Given the description of an element on the screen output the (x, y) to click on. 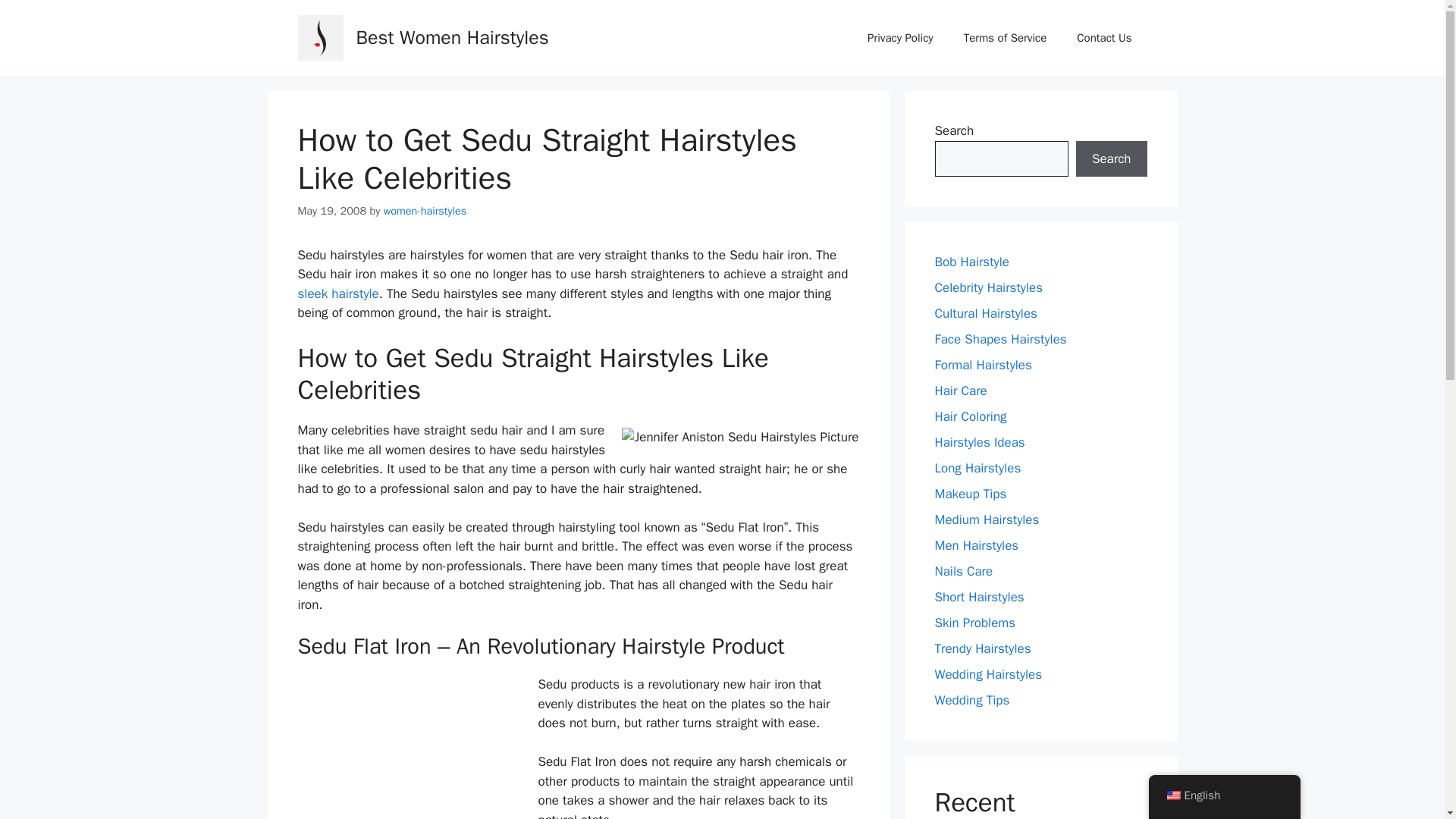
Wedding Tips (971, 700)
Short Hairstyles (978, 596)
Search (1111, 158)
Contact Us (1104, 37)
Nails Care (963, 571)
Men Hairstyles (975, 545)
Hair Coloring (970, 416)
Formal Hairstyles (982, 365)
English (1172, 795)
Trendy Hairstyles (982, 648)
Best Women Hairstyles (452, 37)
Skin Problems (974, 622)
sleek hairstyle (337, 293)
Privacy Policy (900, 37)
Hairstyles Ideas (979, 442)
